Given the description of an element on the screen output the (x, y) to click on. 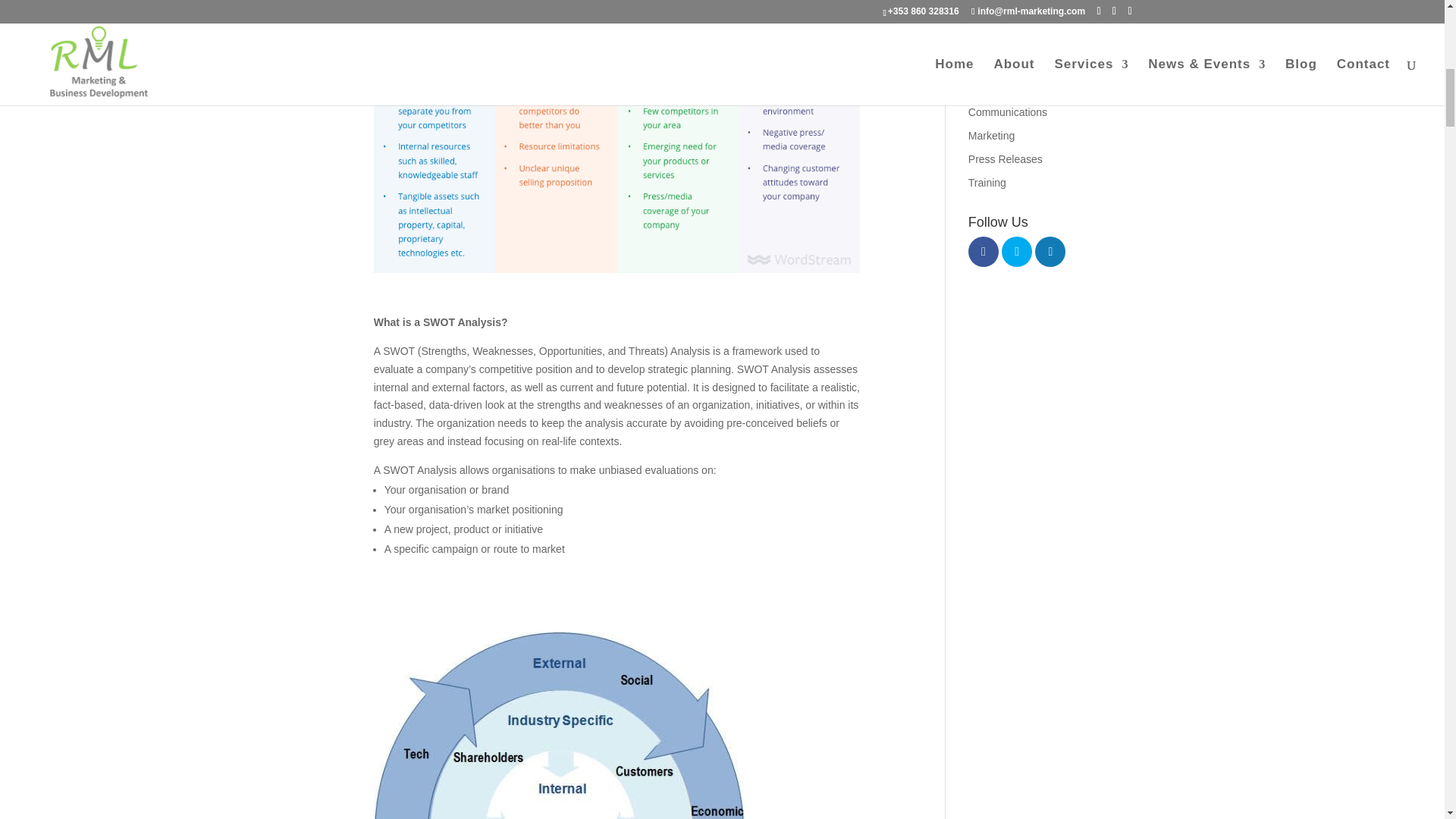
SWOT Analysis 2 (617, 136)
SWOT Analysis 1 (563, 725)
